Given the description of an element on the screen output the (x, y) to click on. 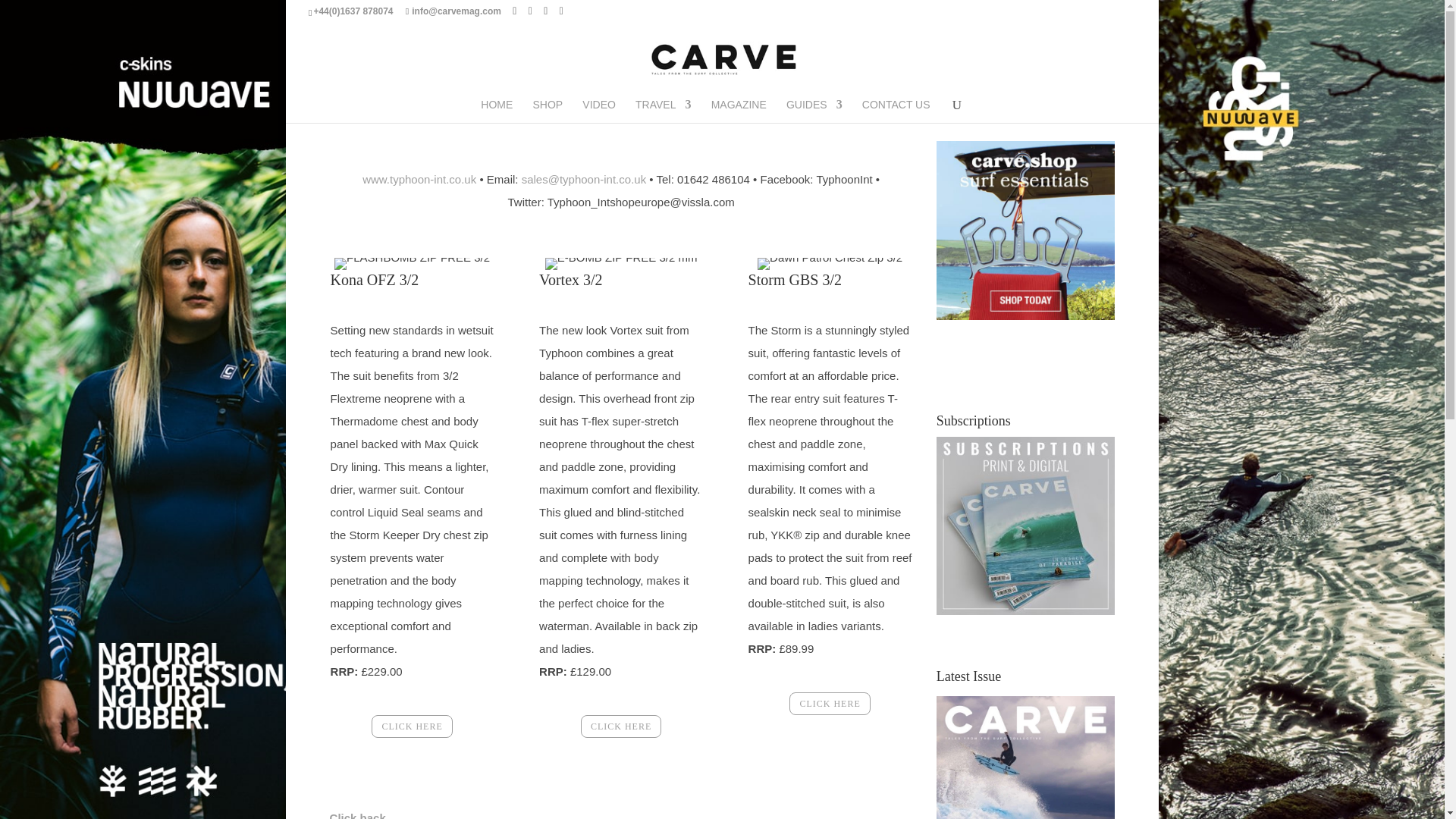
Surfing videos and films (598, 110)
Carve Surfing Magazine Guides (814, 110)
VIDEO (598, 110)
TRAVEL (662, 110)
GUIDES (814, 110)
MAGAZINE (739, 110)
Carvemag.com (496, 110)
HOME (496, 110)
Contact Carve Surfing Magazine (895, 110)
SHOP (547, 110)
